Given the description of an element on the screen output the (x, y) to click on. 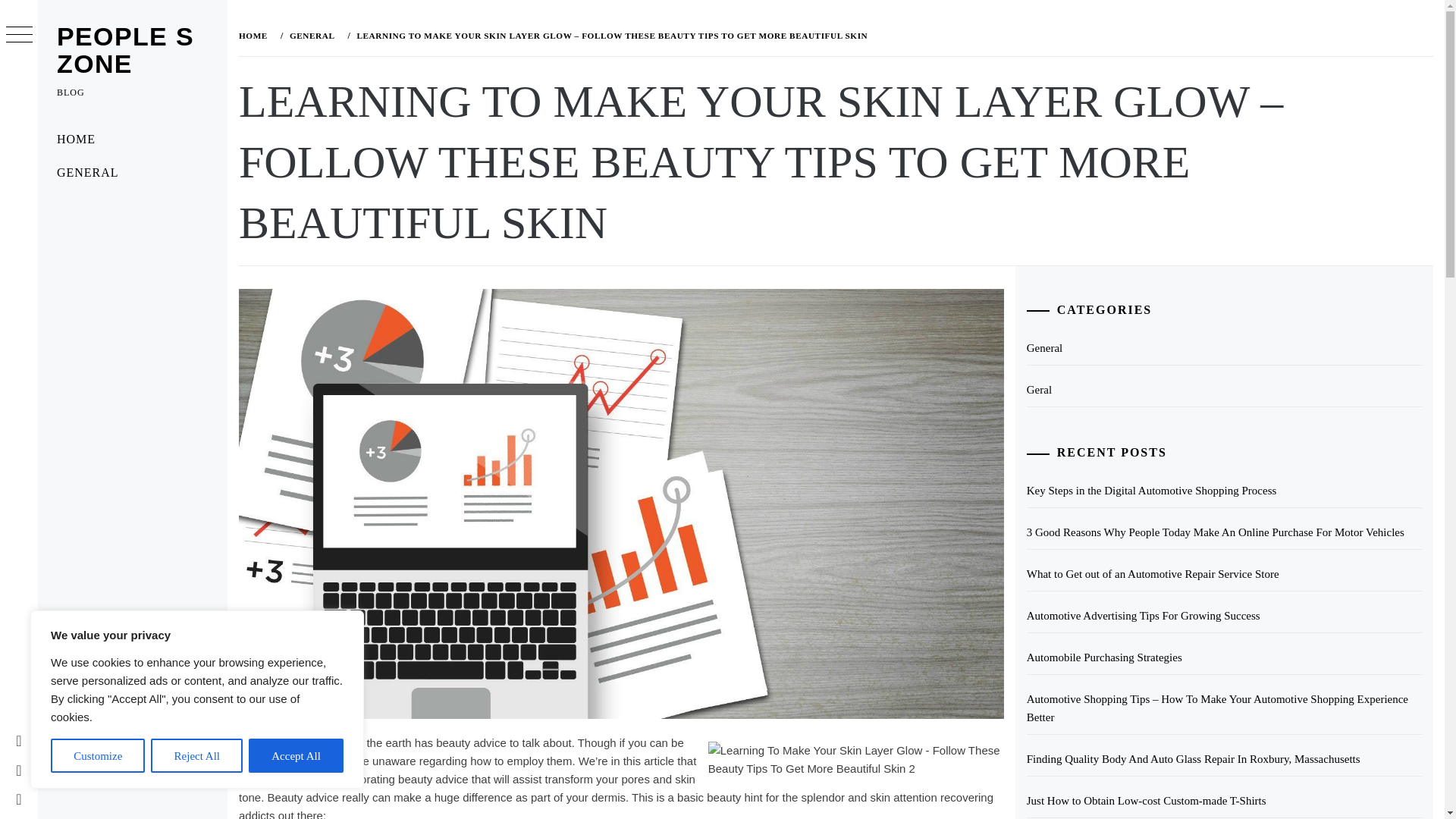
Customize (97, 755)
Reject All (197, 755)
GENERAL (310, 35)
Accept All (295, 755)
PEOPLE S ZONE (124, 49)
HOME (255, 35)
HOME (132, 139)
GENERAL (132, 172)
